Given the description of an element on the screen output the (x, y) to click on. 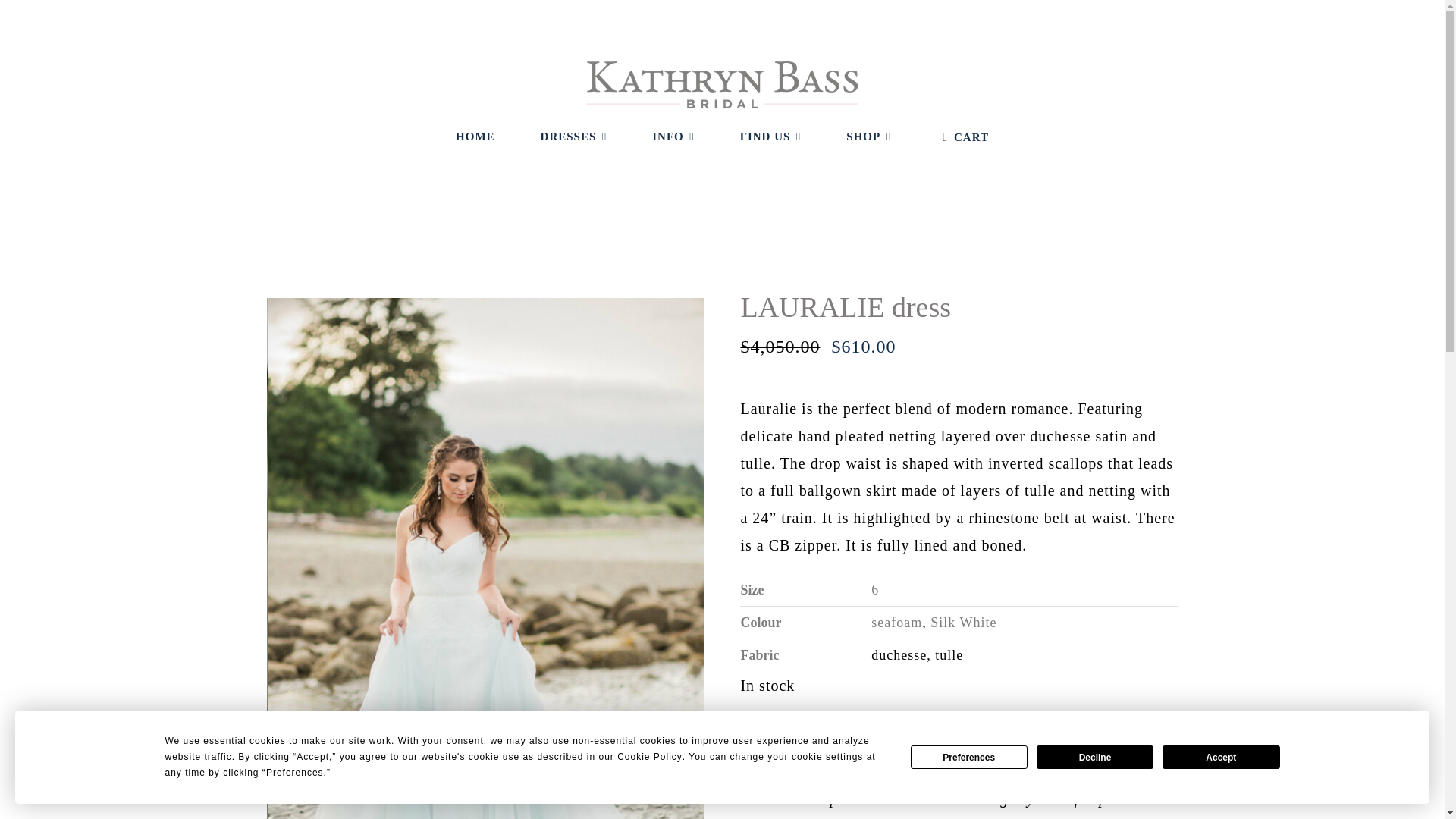
FIND US (770, 136)
SHOP (868, 136)
Preferences (969, 757)
Accept (1220, 757)
DRESSES (573, 136)
Decline (1094, 757)
INFO (673, 136)
CART (962, 137)
HOME (475, 136)
